Given the description of an element on the screen output the (x, y) to click on. 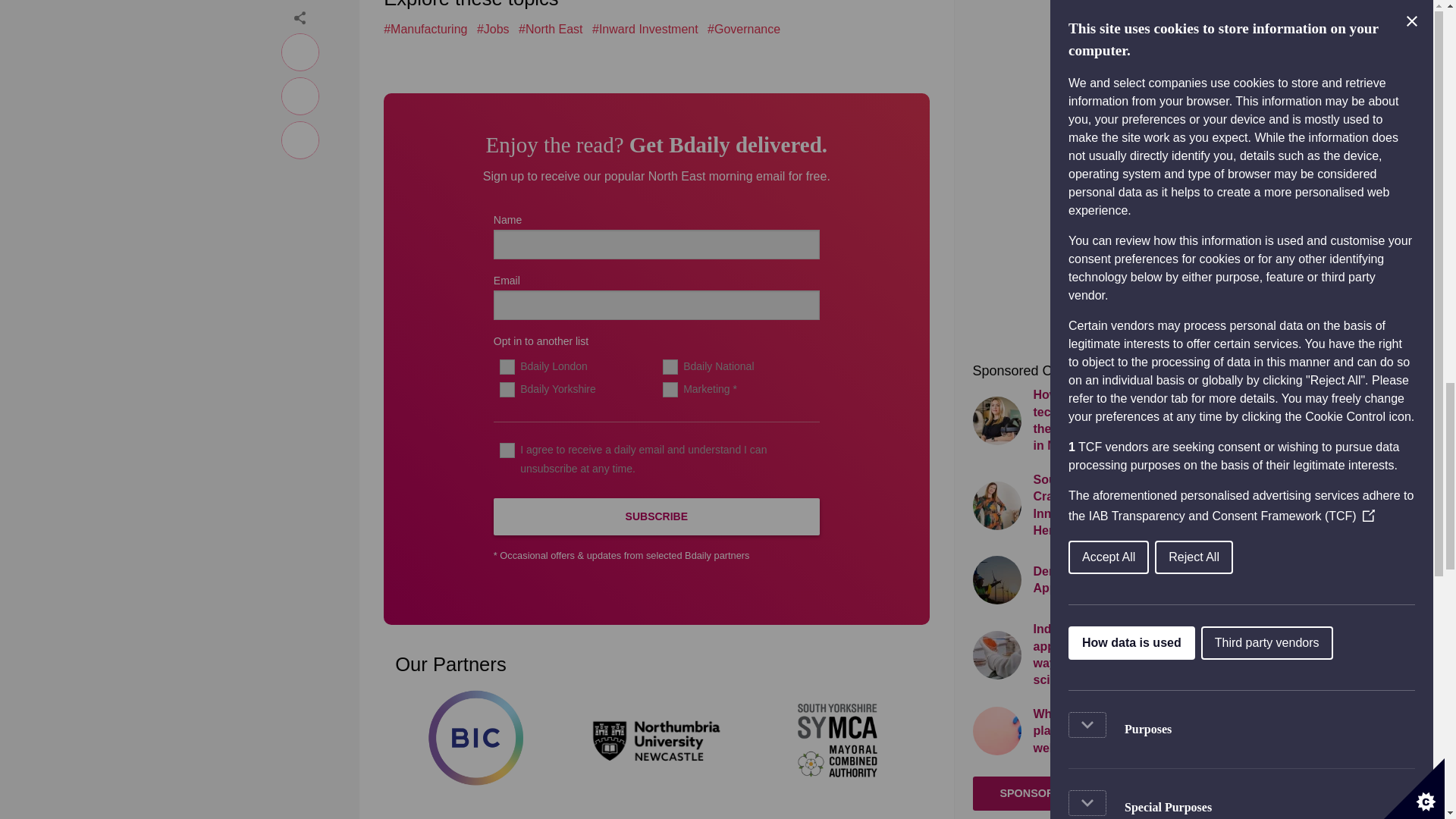
Northumbria University Newcastle (656, 738)
SUBSCRIBE (656, 516)
North East BIC (474, 738)
South Yorkshire Mayoral Combined Authority (838, 738)
